Given the description of an element on the screen output the (x, y) to click on. 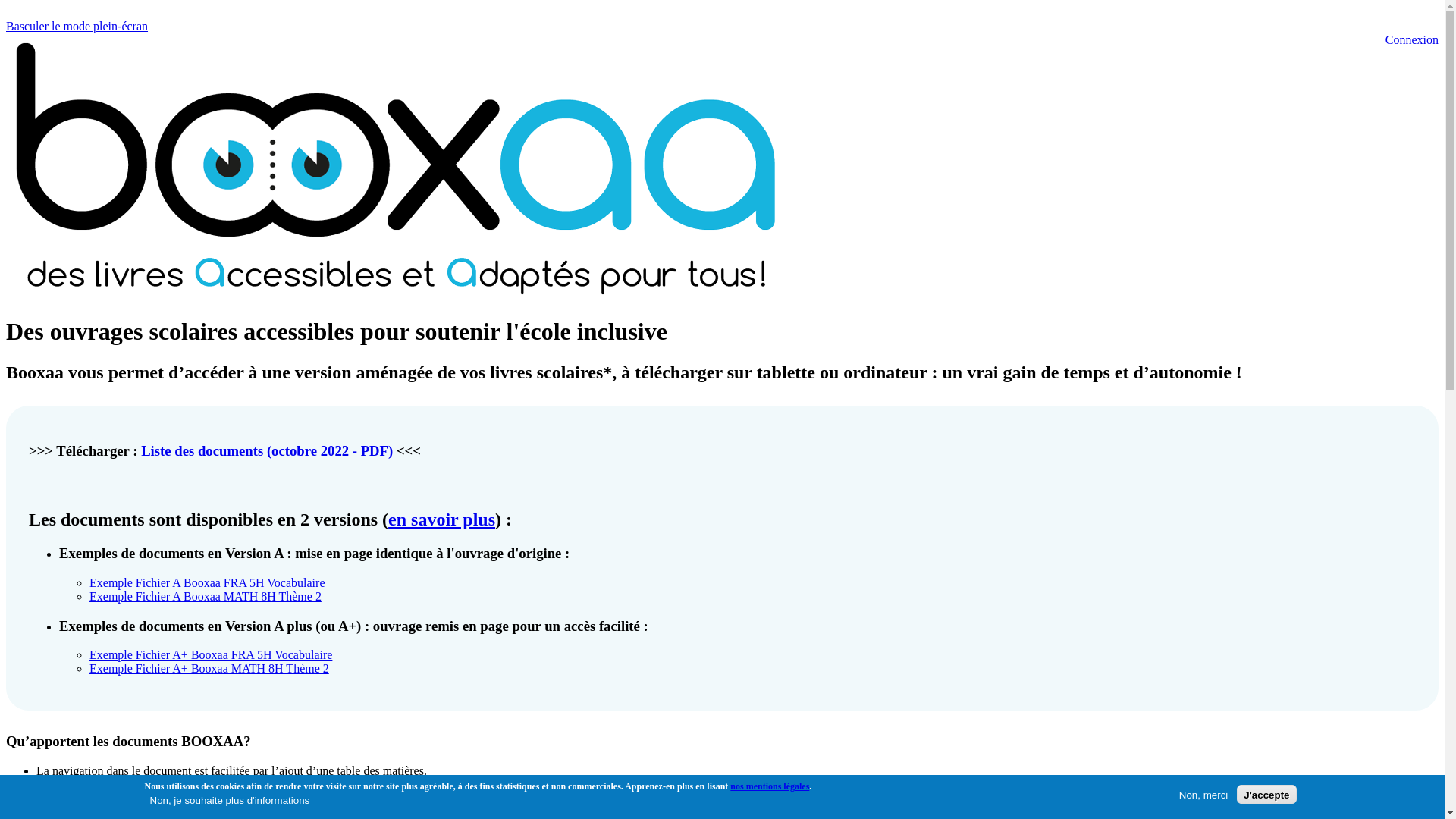
Non, je souhaite plus d'informations Element type: text (230, 799)
Non, merci Element type: text (1203, 794)
J'accepte Element type: text (1265, 793)
Connexion Element type: text (1411, 39)
Exemple Fichier A+ Booxaa FRA 5H Vocabulaire Element type: text (210, 654)
en savoir plus Element type: text (441, 519)
Liste des documents (octobre 2022 - PDF) Element type: text (266, 450)
Exemple Fichier A Booxaa FRA 5H Vocabulaire Element type: text (206, 582)
